Given the description of an element on the screen output the (x, y) to click on. 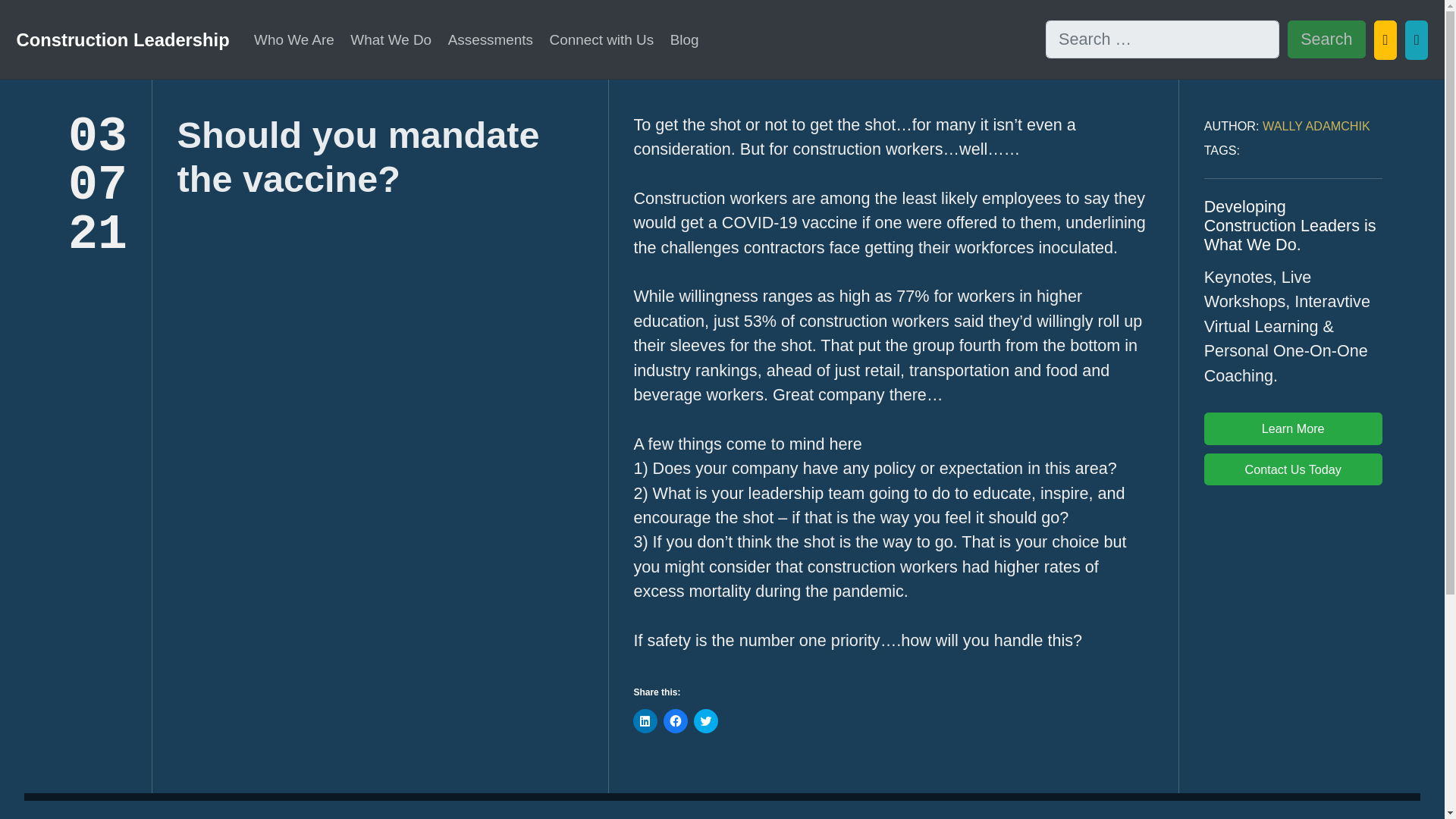
Search (1326, 39)
What We Do (390, 39)
Who We Are (294, 39)
Click to share on Twitter (705, 721)
Blog (684, 39)
Who We Are (294, 39)
Construction Leadership (123, 39)
Search (1326, 39)
Assessments (490, 39)
Click to share on LinkedIn (645, 721)
Wally Adamchik (1316, 125)
Blog (684, 39)
What We Do (390, 39)
Search (1326, 39)
Assessments (490, 39)
